Given the description of an element on the screen output the (x, y) to click on. 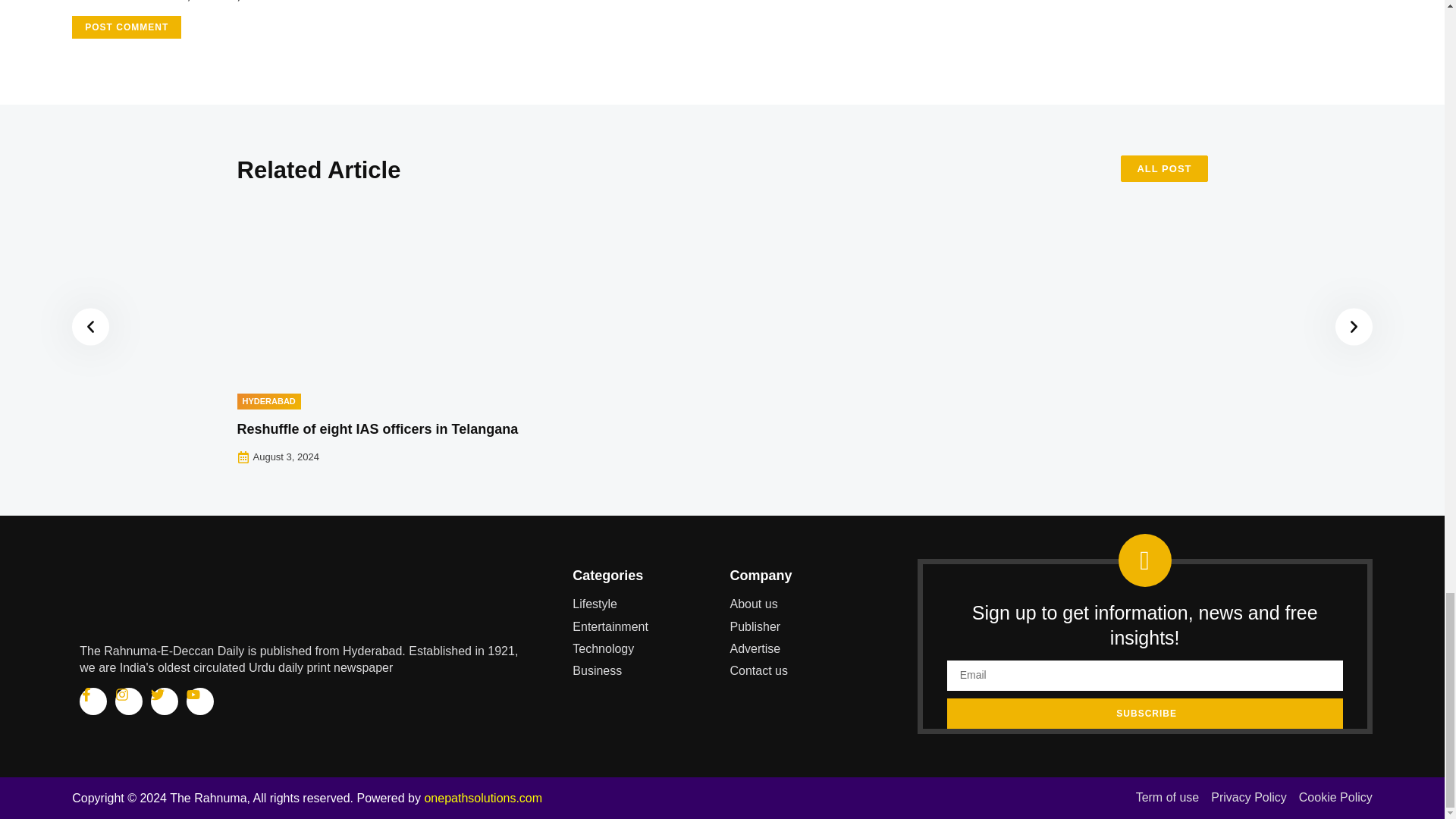
Post Comment (125, 26)
